Given the description of an element on the screen output the (x, y) to click on. 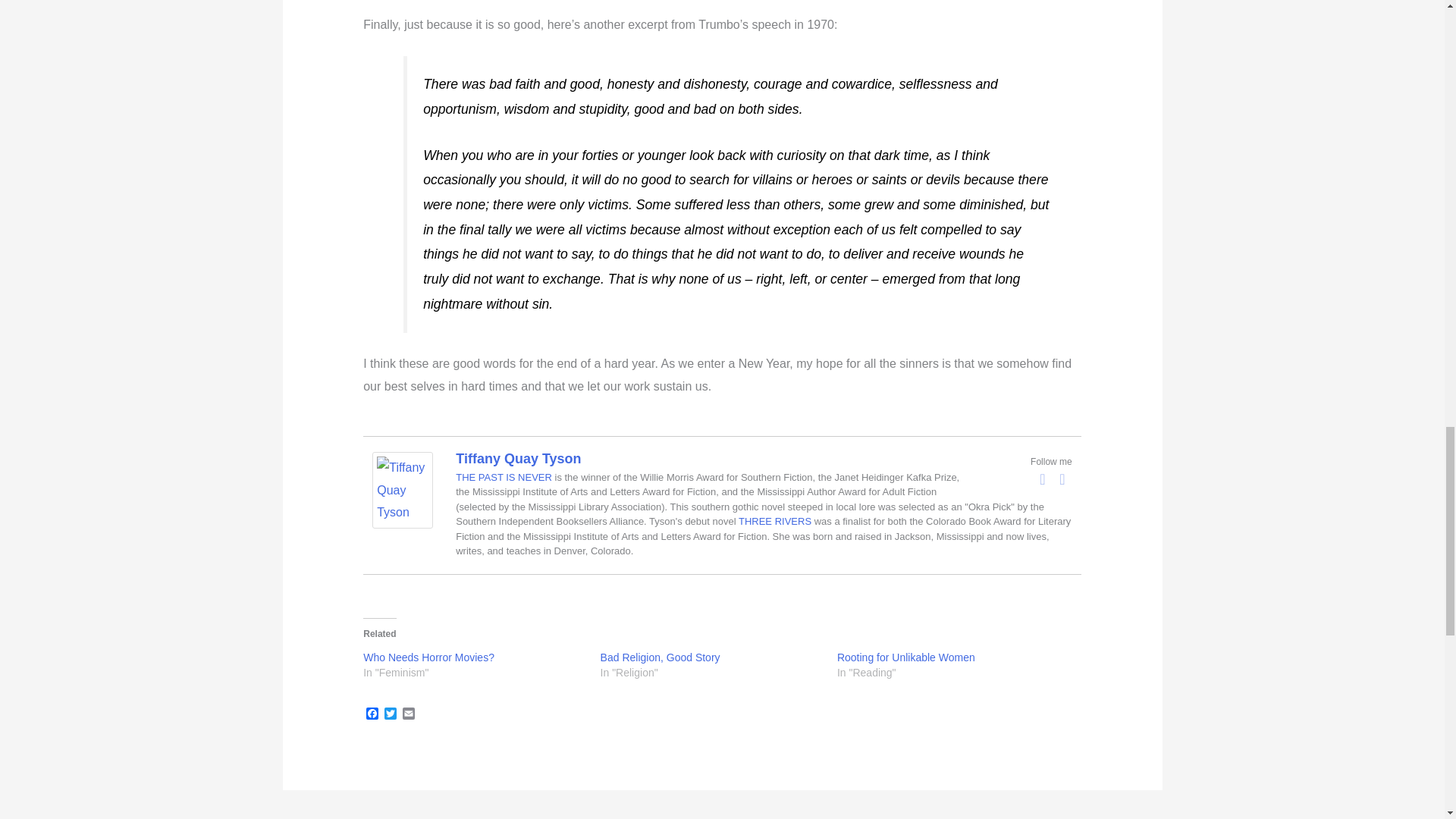
Twitter (389, 714)
Twitter (389, 714)
Bad Religion, Good Story (659, 657)
Facebook (371, 714)
THREE RIVERS (774, 521)
Email (407, 714)
Facebook (371, 714)
Who Needs Horror Movies? (428, 657)
Rooting for Unlikable Women (906, 657)
Who Needs Horror Movies? (428, 657)
